Given the description of an element on the screen output the (x, y) to click on. 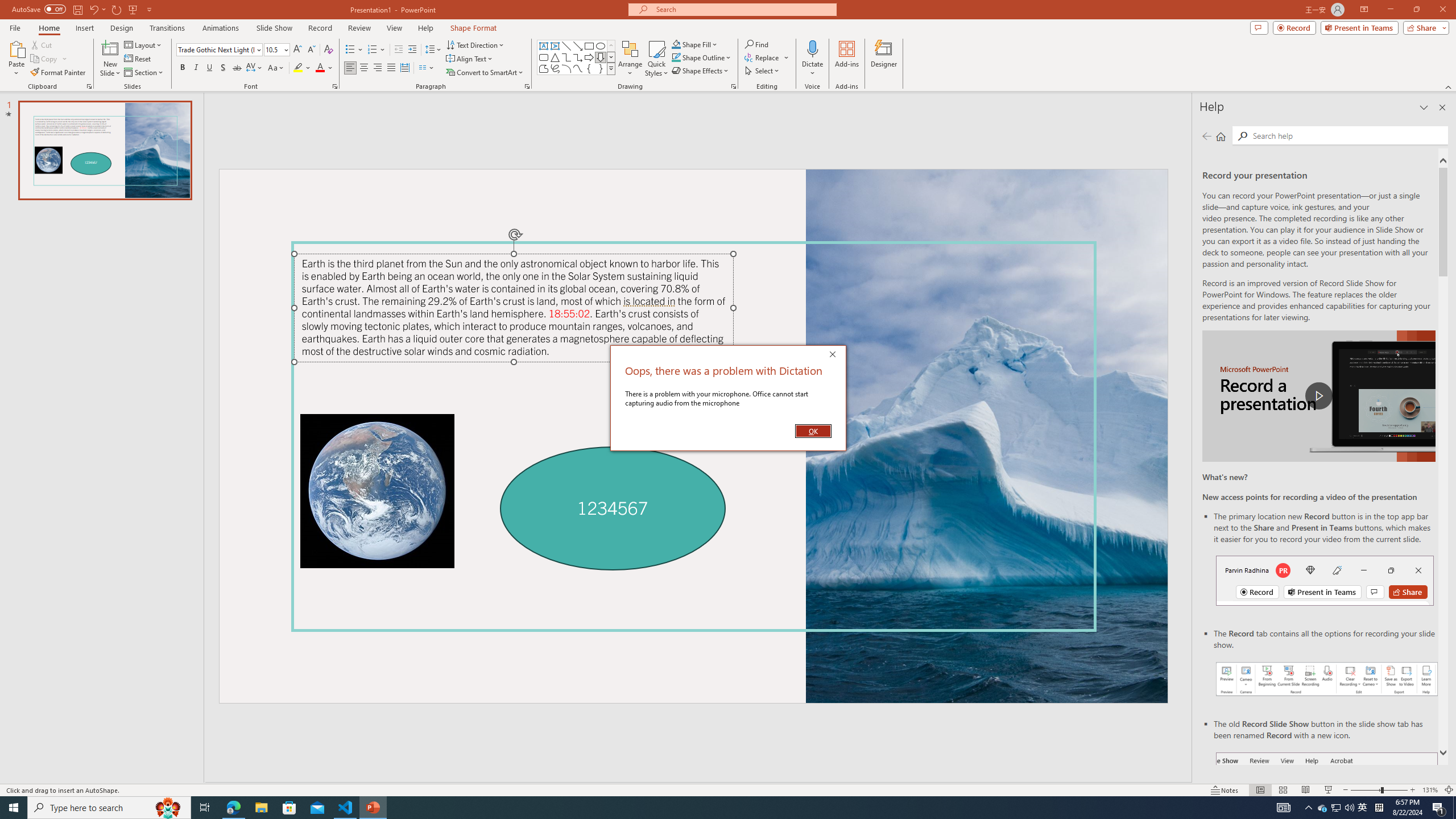
Zoom 131% (1430, 790)
